Given the description of an element on the screen output the (x, y) to click on. 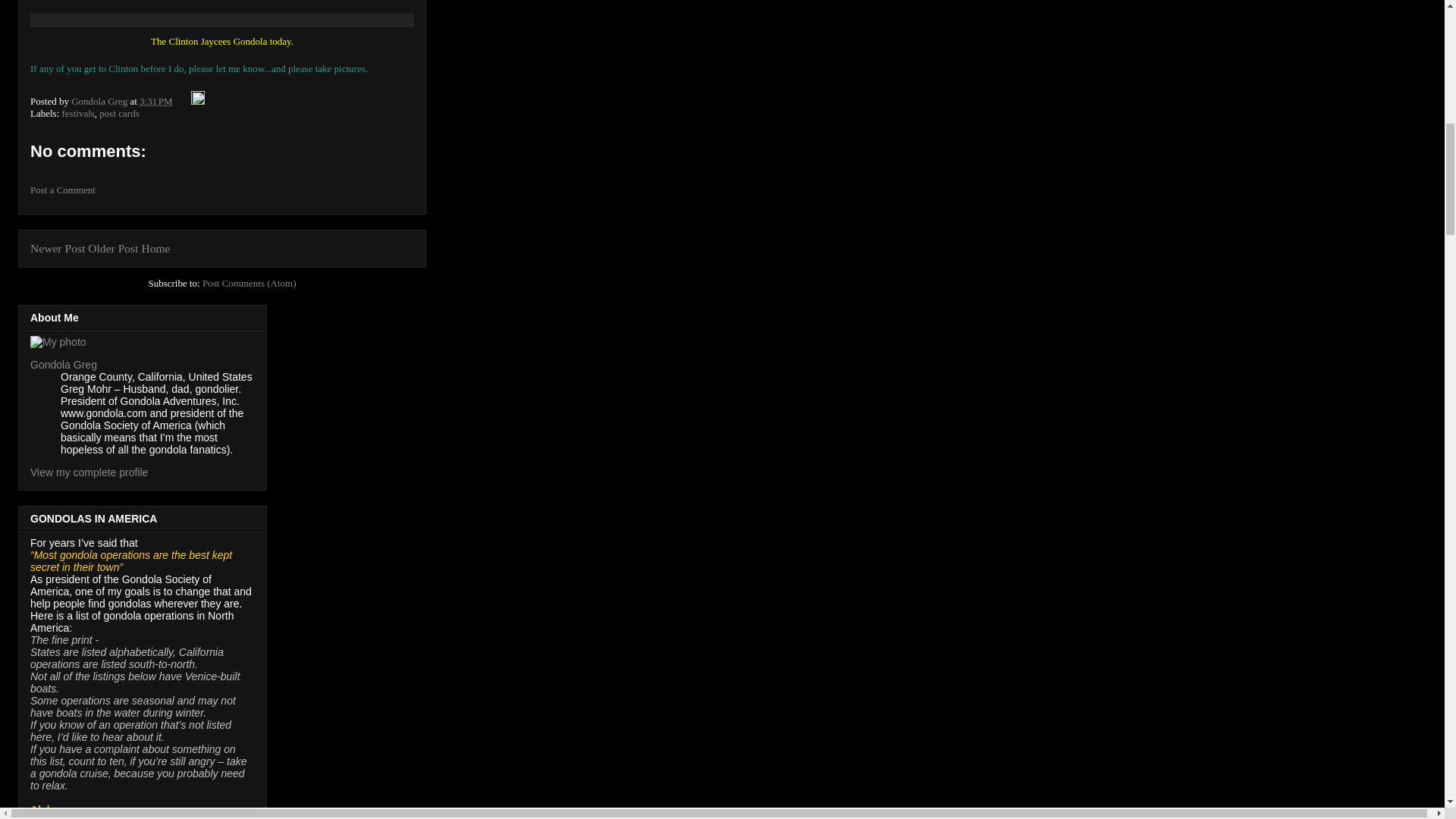
View my complete profile (89, 472)
Home (155, 247)
festivals (78, 112)
Newer Post (57, 247)
Older Post (112, 247)
Email Post (182, 101)
Gondola Greg (100, 101)
post cards (118, 112)
Gondola Greg (63, 364)
Edit Post (197, 101)
author profile (100, 101)
permanent link (156, 101)
Newer Post (57, 247)
Older Post (112, 247)
